Given the description of an element on the screen output the (x, y) to click on. 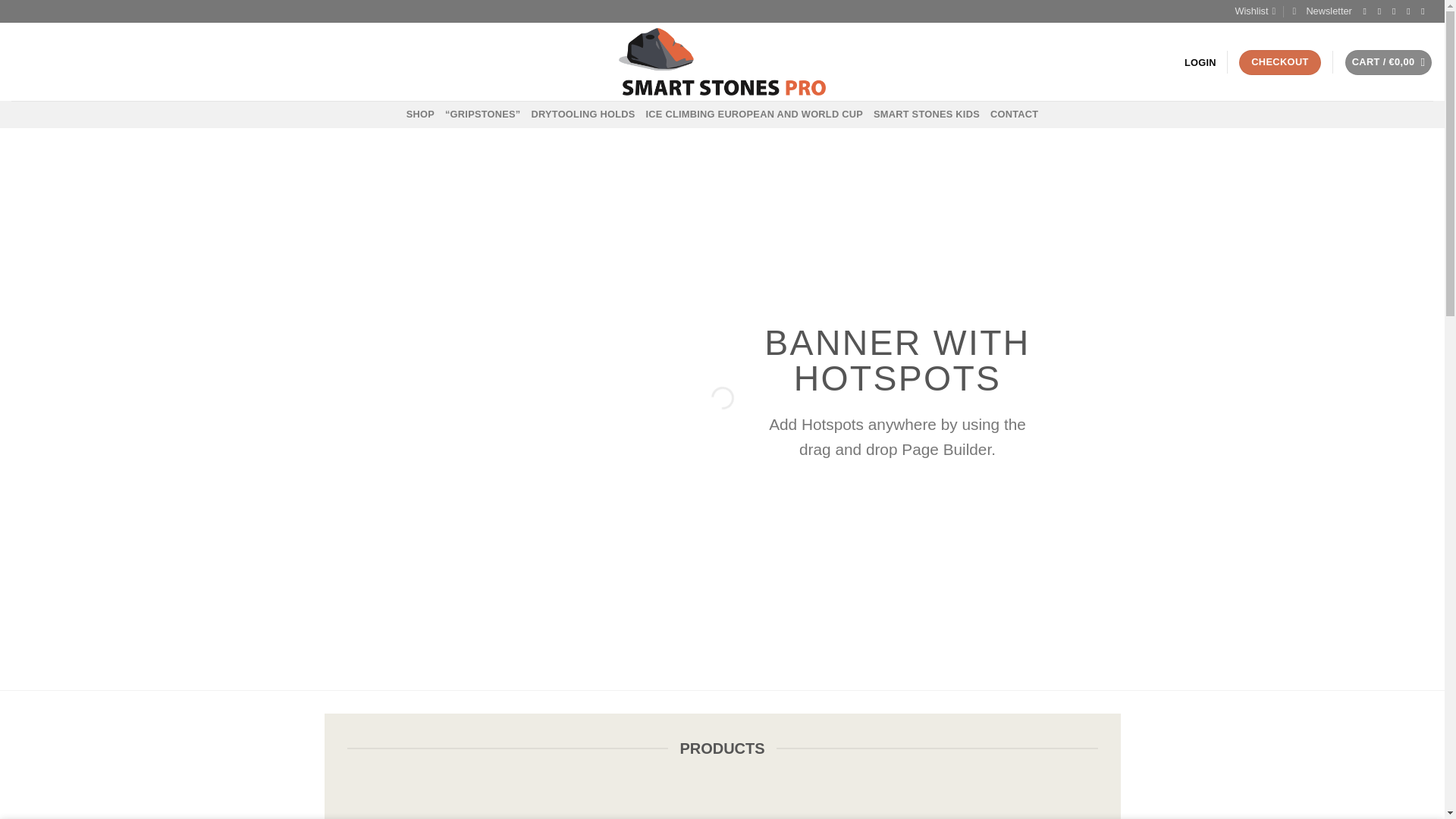
Sign up for Newsletter (1322, 11)
ICE CLIMBING EUROPEAN AND WORLD CUP (754, 113)
Newsletter (1322, 11)
CONTACT (1014, 113)
CHECKOUT (1279, 62)
LOGIN (1200, 62)
Wishlist (1254, 11)
Cart (1388, 62)
SHOP (419, 113)
SMART STONES KIDS (926, 113)
